Given the description of an element on the screen output the (x, y) to click on. 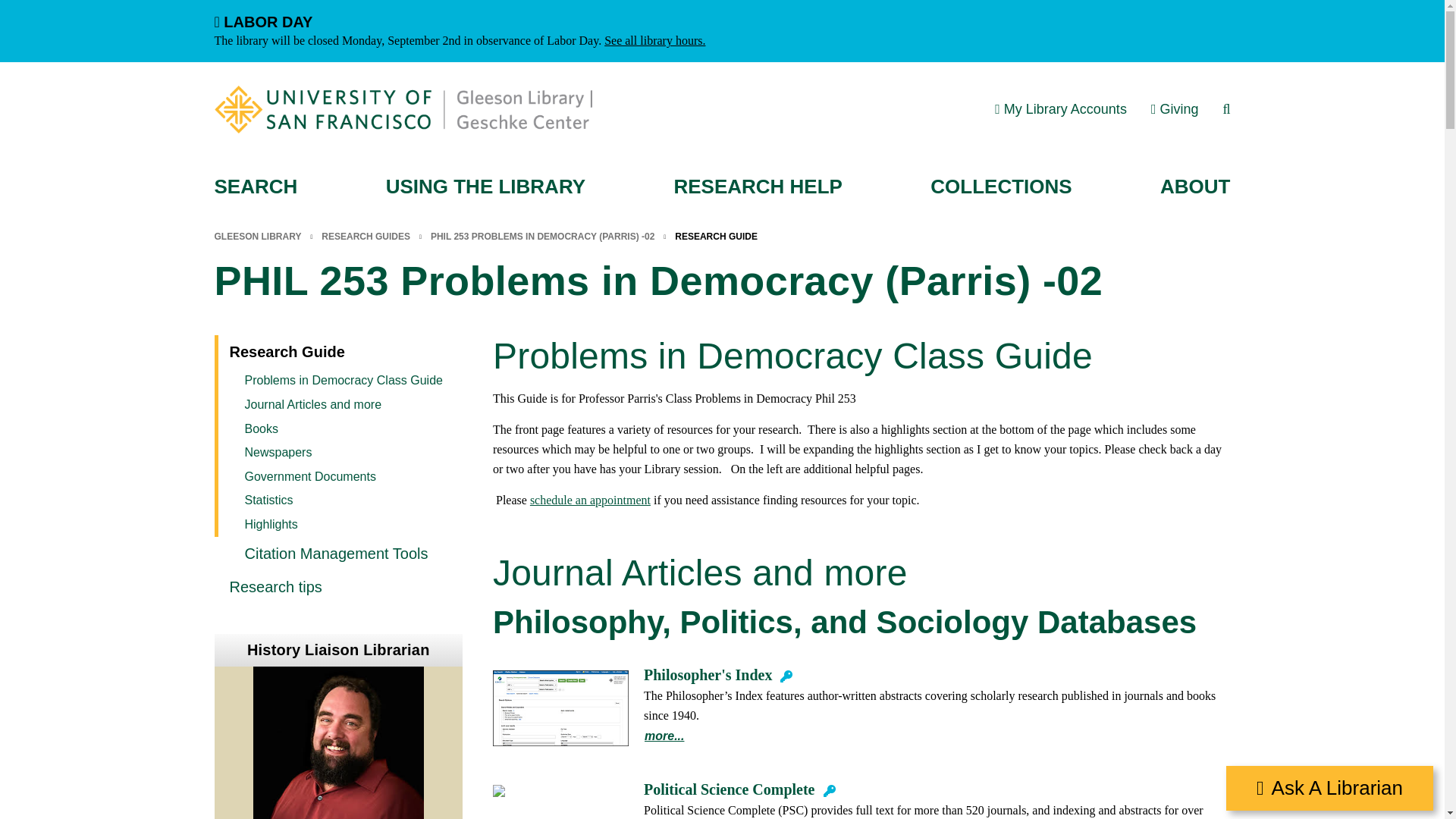
My Library Accounts (1060, 109)
SEARCH (255, 186)
RESEARCH HELP (756, 186)
Giving (1174, 109)
USING THE LIBRARY (485, 186)
See all library hours. (654, 40)
